Given the description of an element on the screen output the (x, y) to click on. 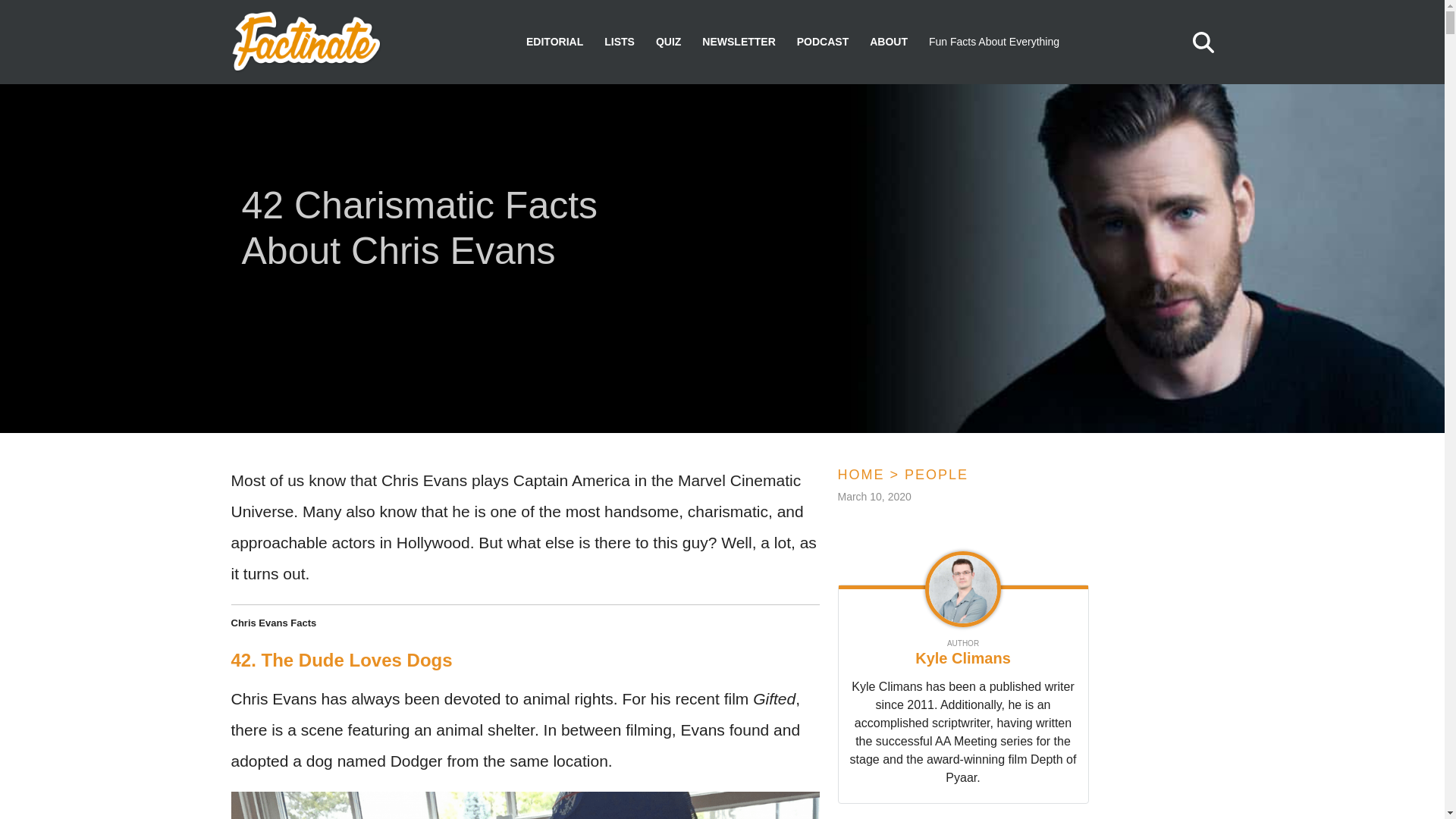
ABOUT (888, 41)
42 Charismatic Facts About Chris Evans (451, 231)
QUIZ (668, 41)
LISTS (619, 41)
NEWSLETTER (737, 41)
EDITORIAL (554, 41)
PODCAST (822, 41)
